Given the description of an element on the screen output the (x, y) to click on. 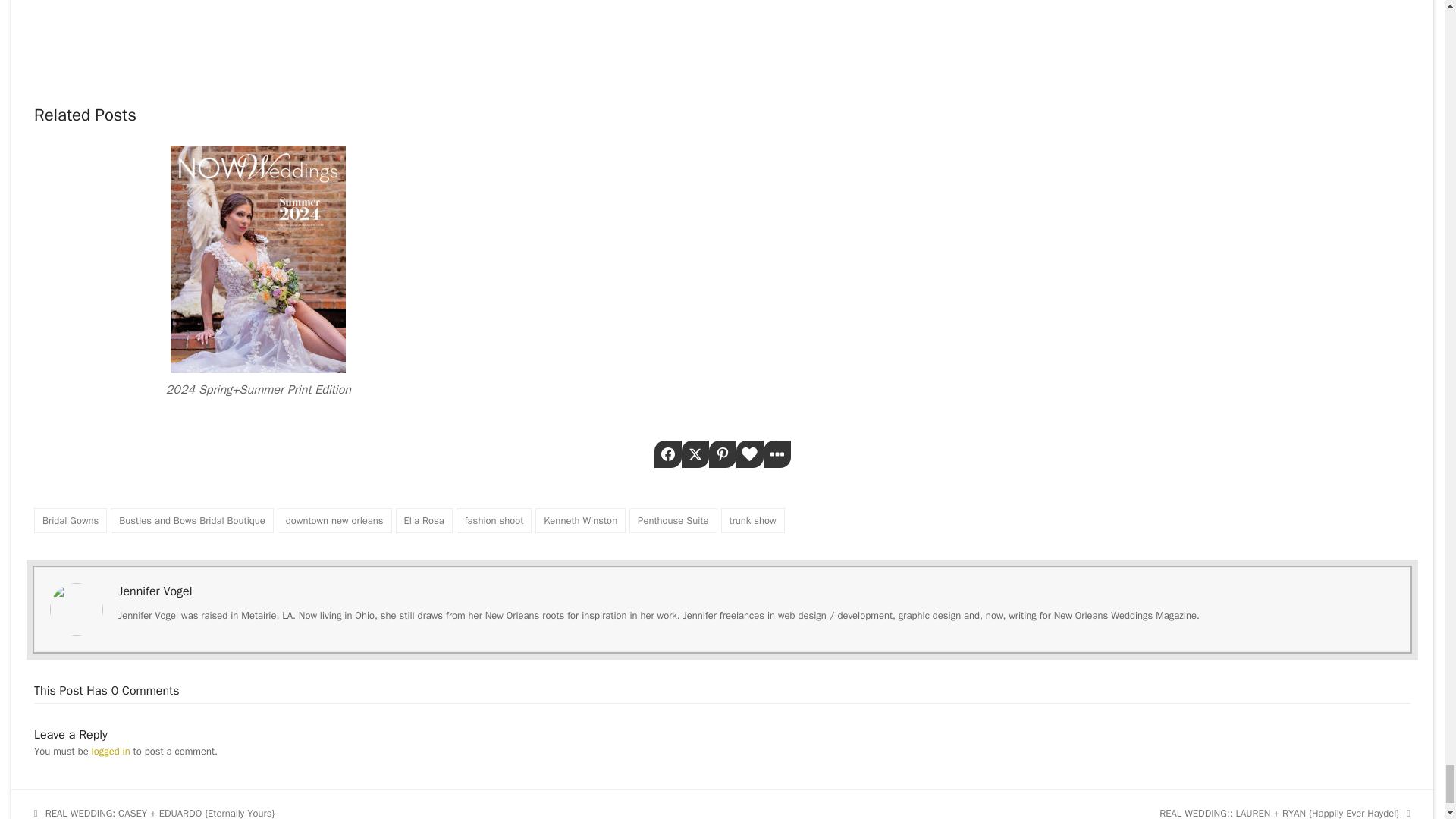
Share on Twitter (694, 453)
Share on More Button (776, 453)
Share on Facebook (667, 453)
Share on Love This (748, 453)
Share on Pinterest (721, 453)
